Given the description of an element on the screen output the (x, y) to click on. 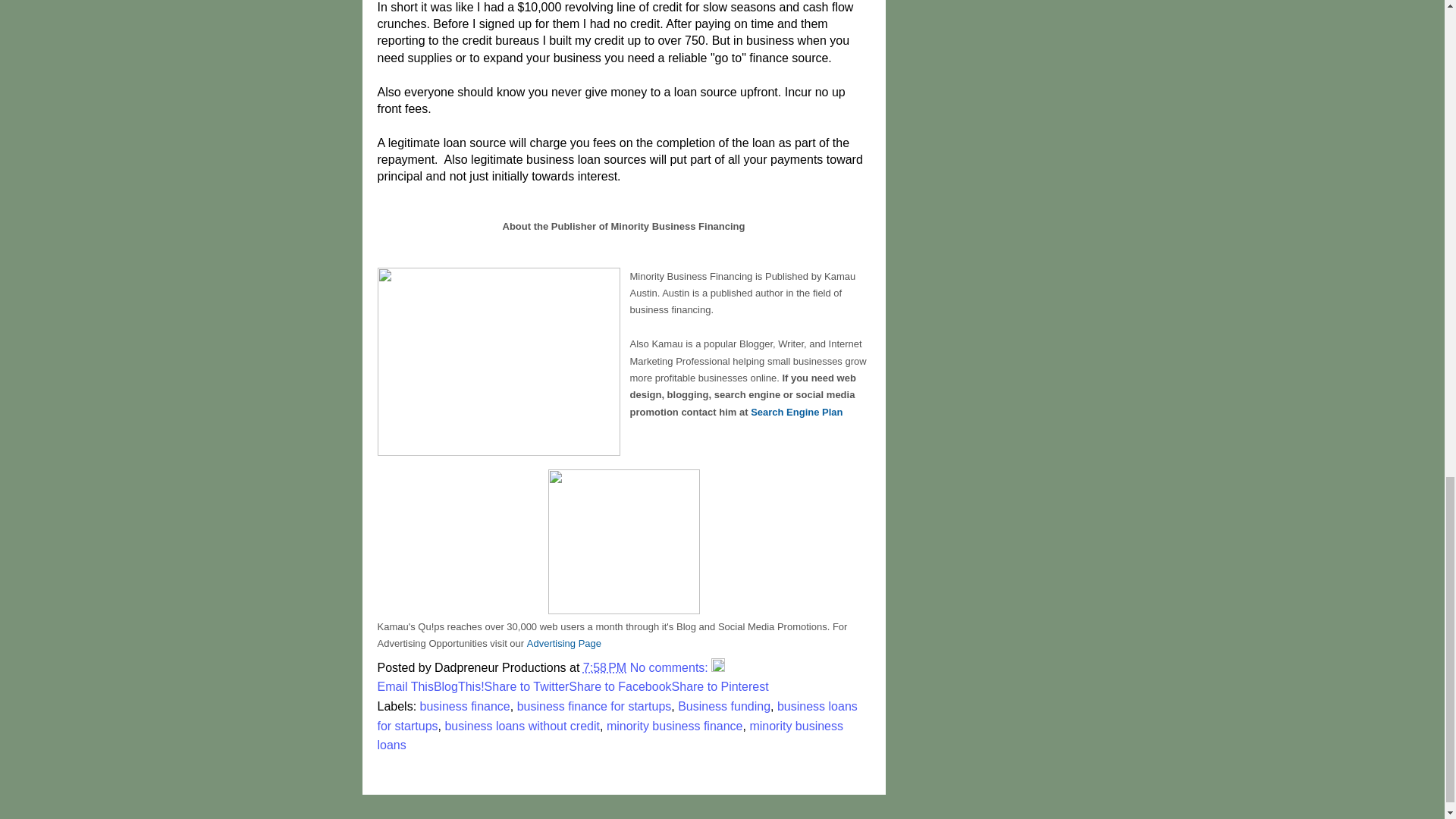
Edit Post (718, 667)
business finance (465, 706)
Share to Facebook (620, 686)
Email This (405, 686)
Share to Pinterest (719, 686)
minority business loans (610, 735)
minority business finance (674, 725)
business finance for startups (593, 706)
Share to Pinterest (719, 686)
BlogThis! (458, 686)
